Given the description of an element on the screen output the (x, y) to click on. 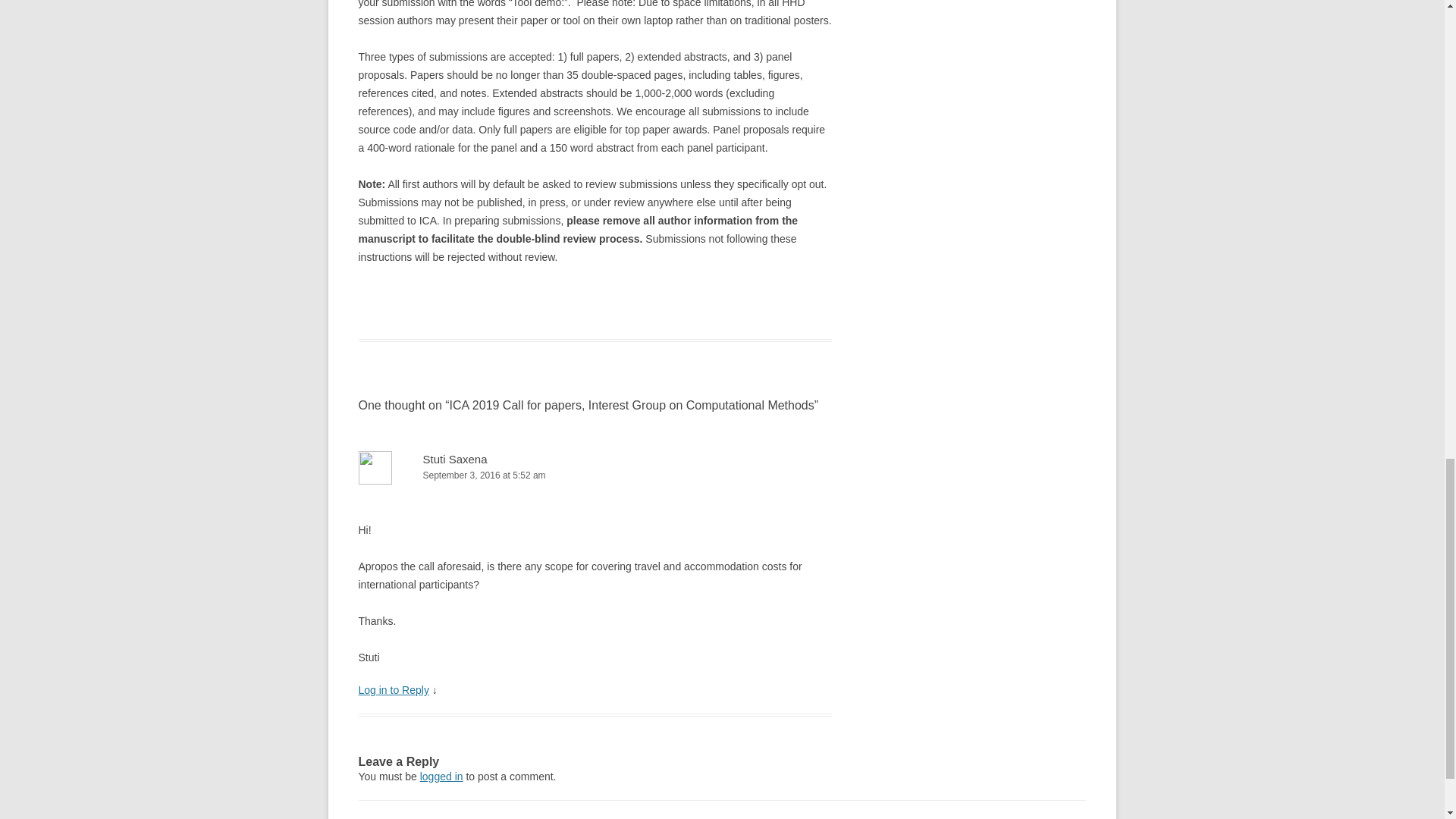
September 3, 2016 at 5:52 am (594, 475)
logged in (441, 776)
Log in to Reply (393, 689)
